Given the description of an element on the screen output the (x, y) to click on. 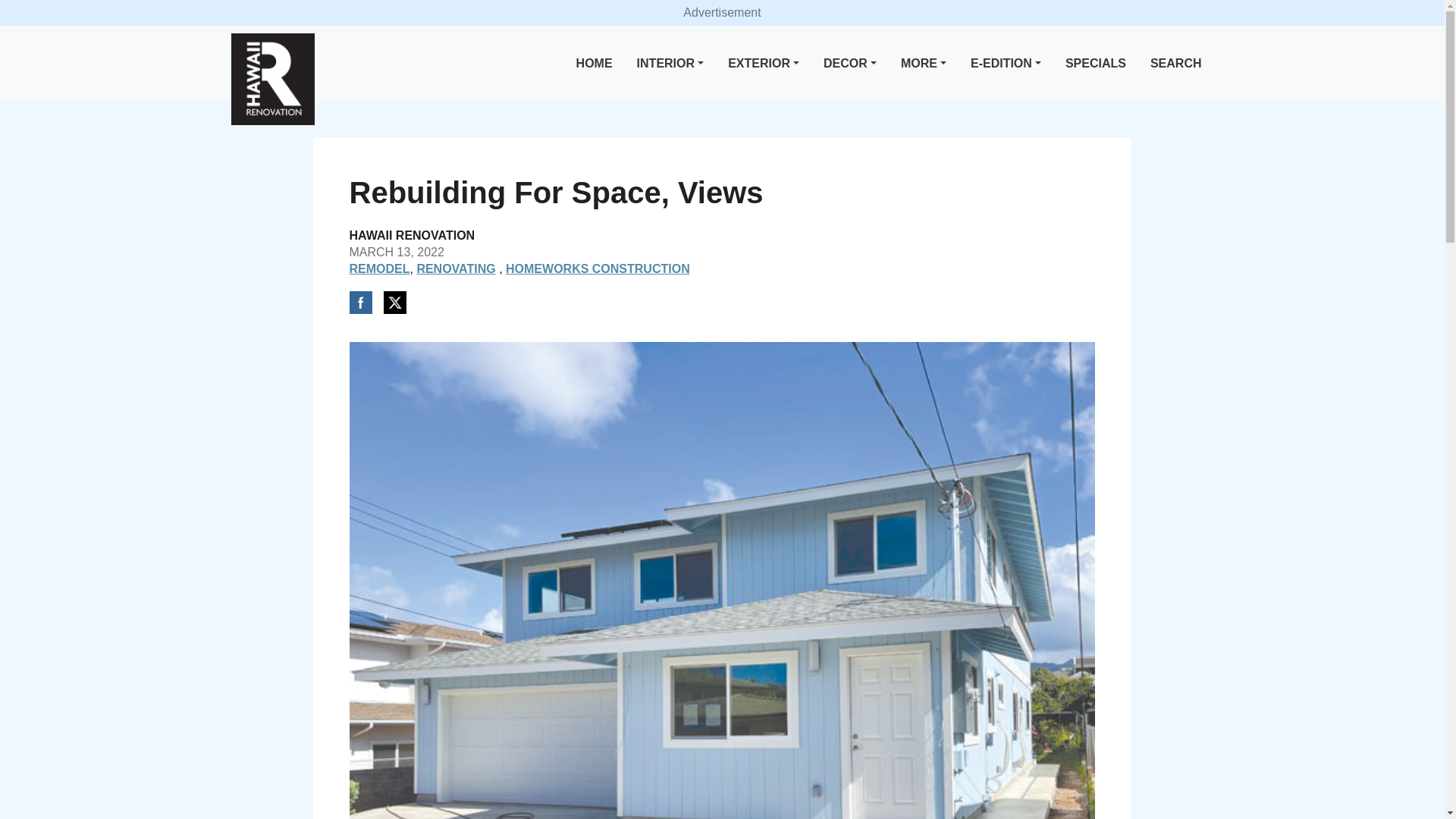
REMODEL (379, 268)
Facebook (360, 302)
SEARCH (1176, 63)
RENOVATING (455, 268)
HOMEWORKS CONSTRUCTION (597, 268)
HOME (594, 63)
EXTERIOR (763, 63)
DECOR (849, 63)
E-EDITION (1004, 63)
Hawaii Renovation (272, 79)
